Given the description of an element on the screen output the (x, y) to click on. 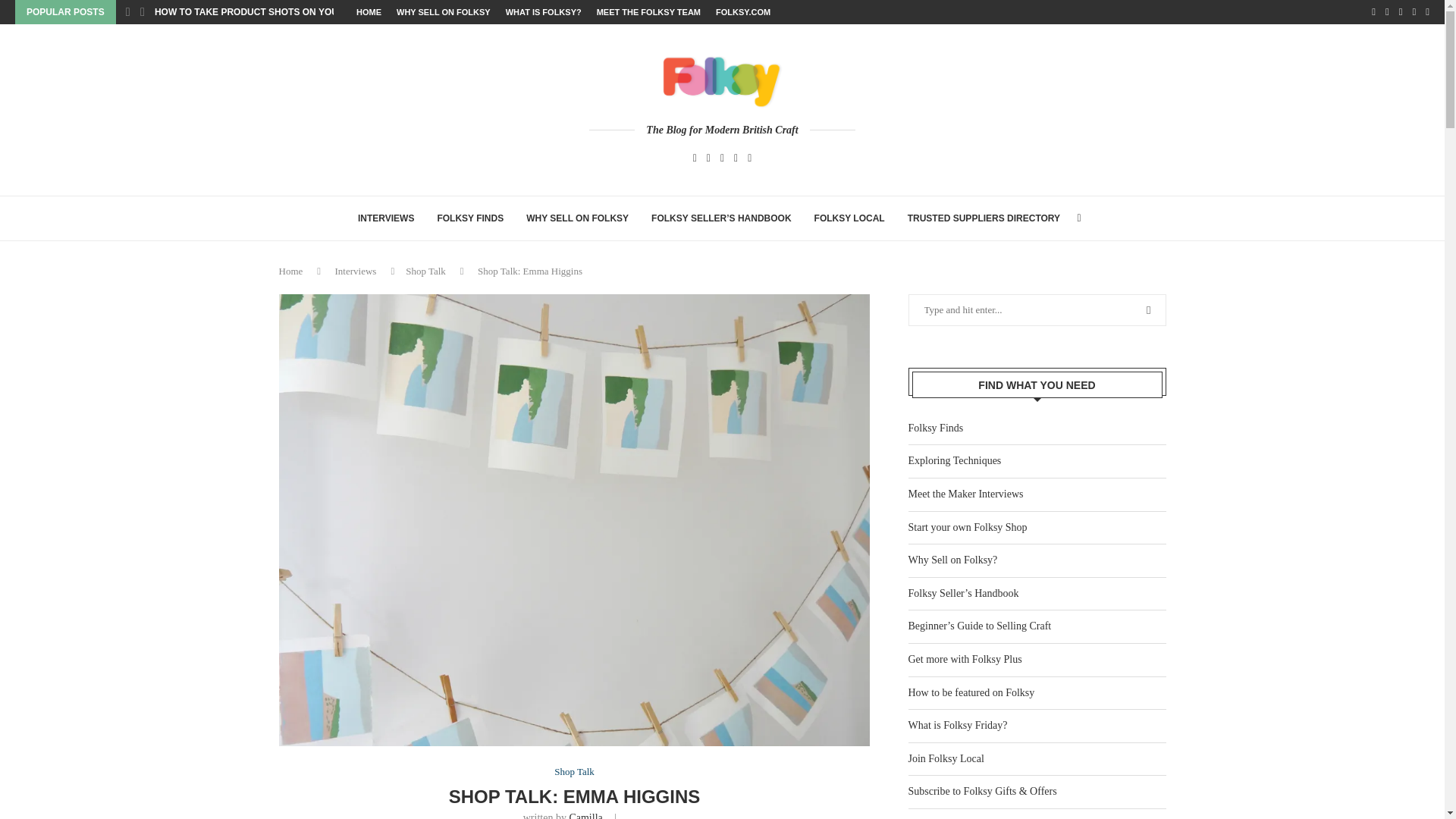
WHY SELL ON FOLKSY (443, 12)
FOLKSY.COM (743, 12)
MEET THE FOLKSY TEAM (648, 12)
HOME (368, 12)
HOW TO TAKE PRODUCT SHOTS ON YOUR PHONE (267, 12)
WHAT IS FOLKSY? (542, 12)
